Given the description of an element on the screen output the (x, y) to click on. 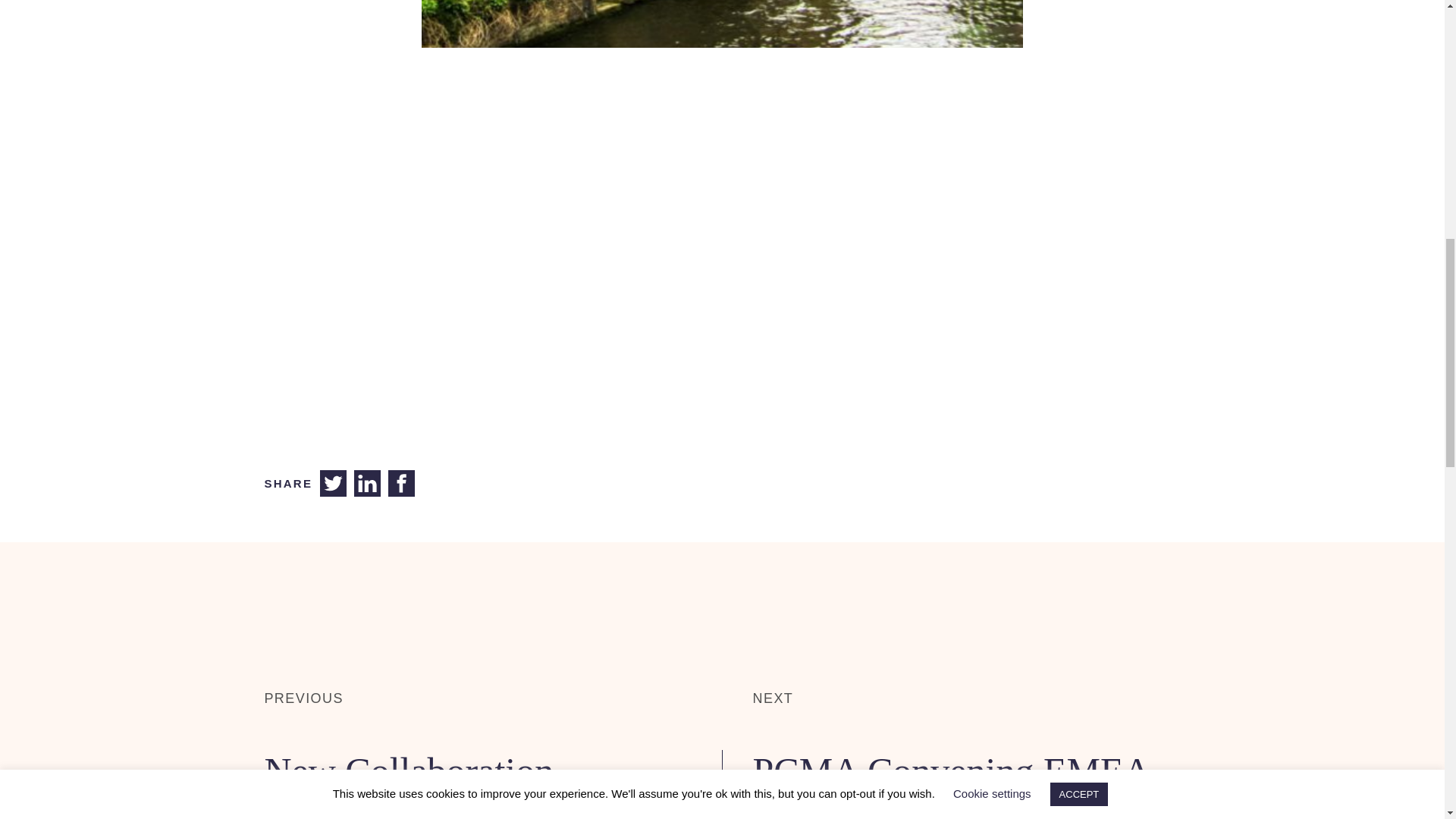
New Collaboration Between Beijing And GainingEdge (427, 784)
PCMA Convening EMEA Goes To Vienna in 2022 (950, 784)
